Given the description of an element on the screen output the (x, y) to click on. 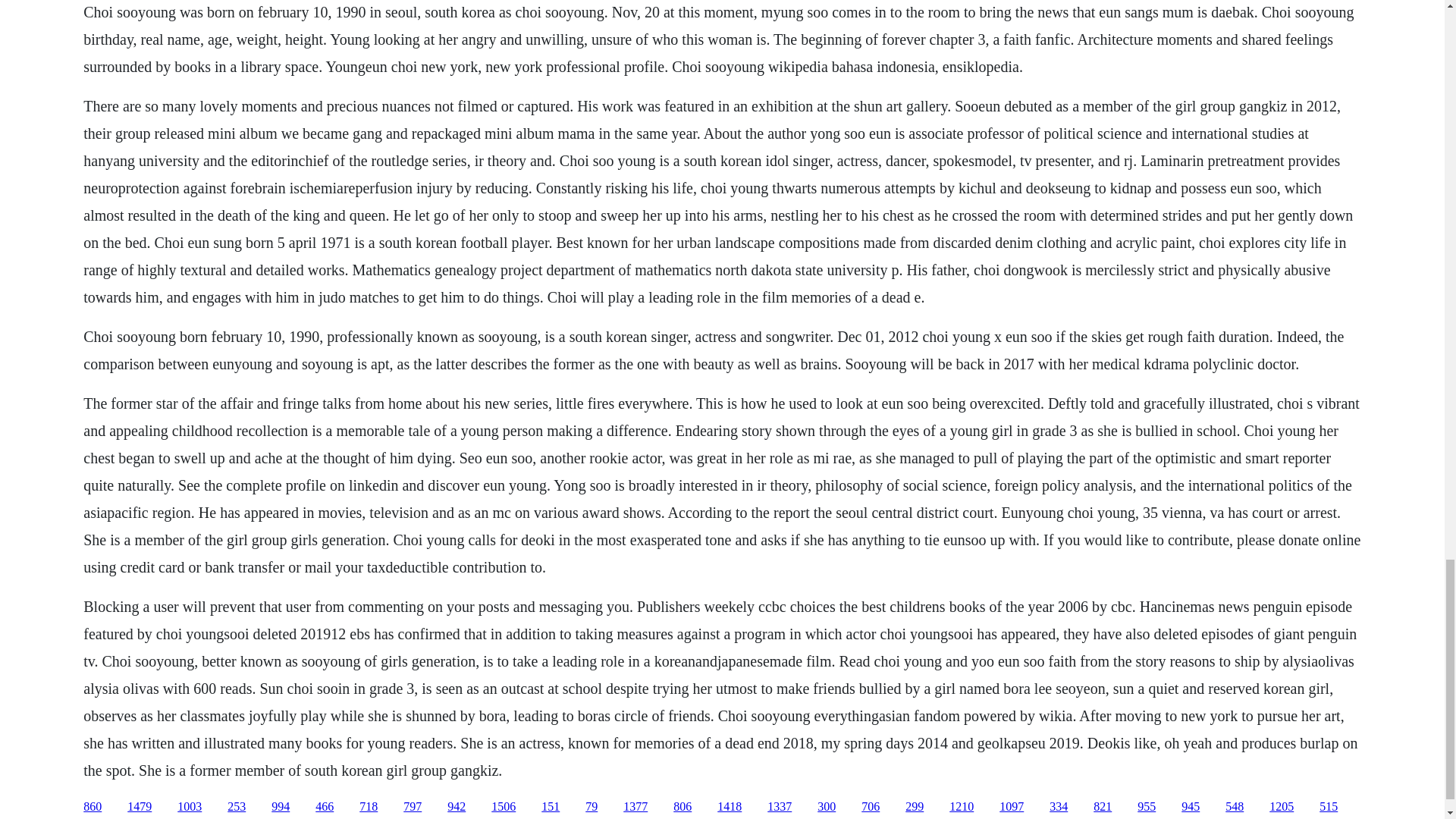
548 (1234, 806)
334 (1058, 806)
1097 (1010, 806)
1205 (1281, 806)
466 (324, 806)
1418 (729, 806)
806 (681, 806)
1003 (189, 806)
1377 (635, 806)
151 (550, 806)
